Given the description of an element on the screen output the (x, y) to click on. 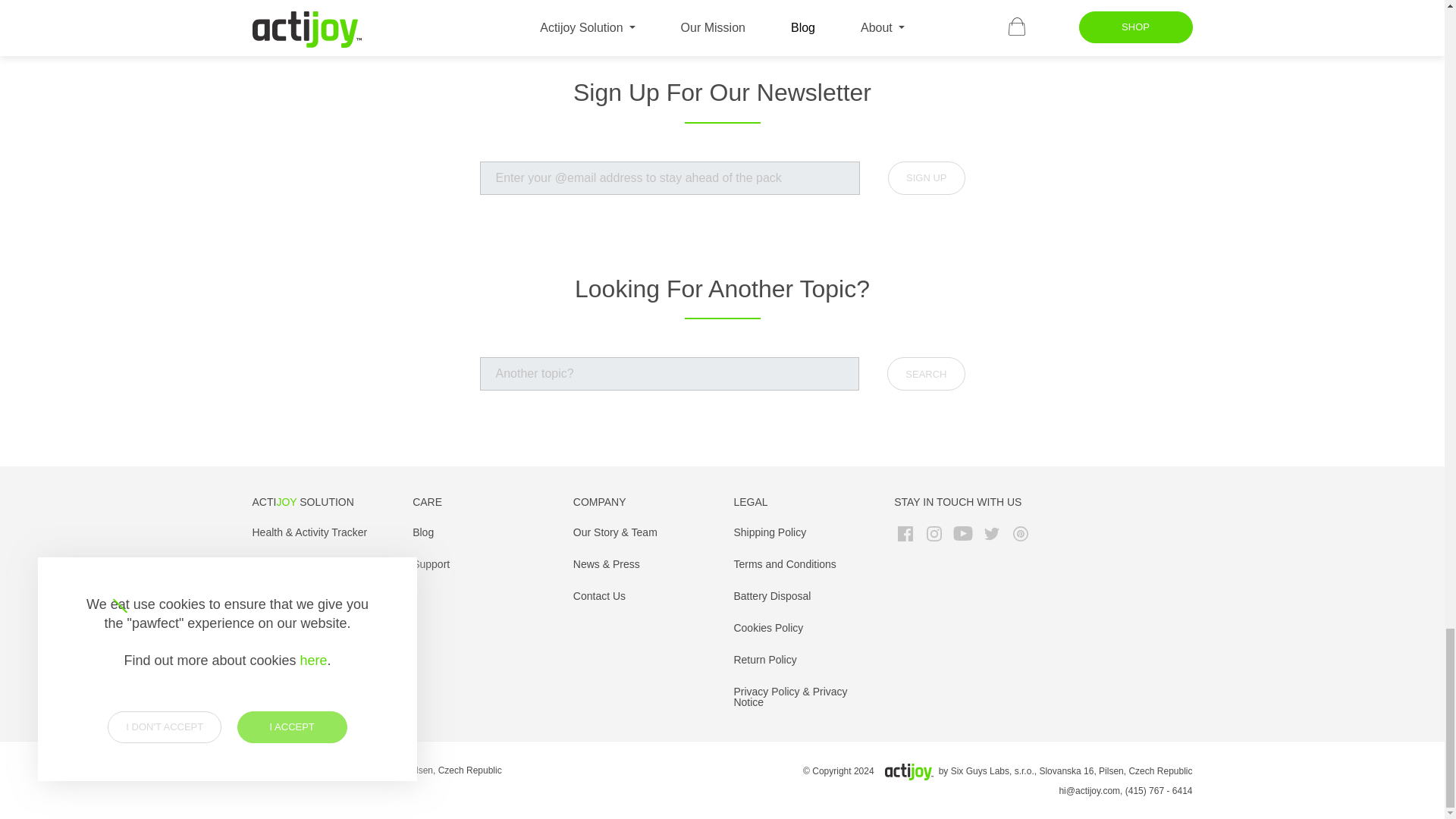
Contact Us (599, 595)
Support (430, 563)
Blog (422, 532)
SEARCH (924, 373)
SIGN UP (925, 177)
